Given the description of an element on the screen output the (x, y) to click on. 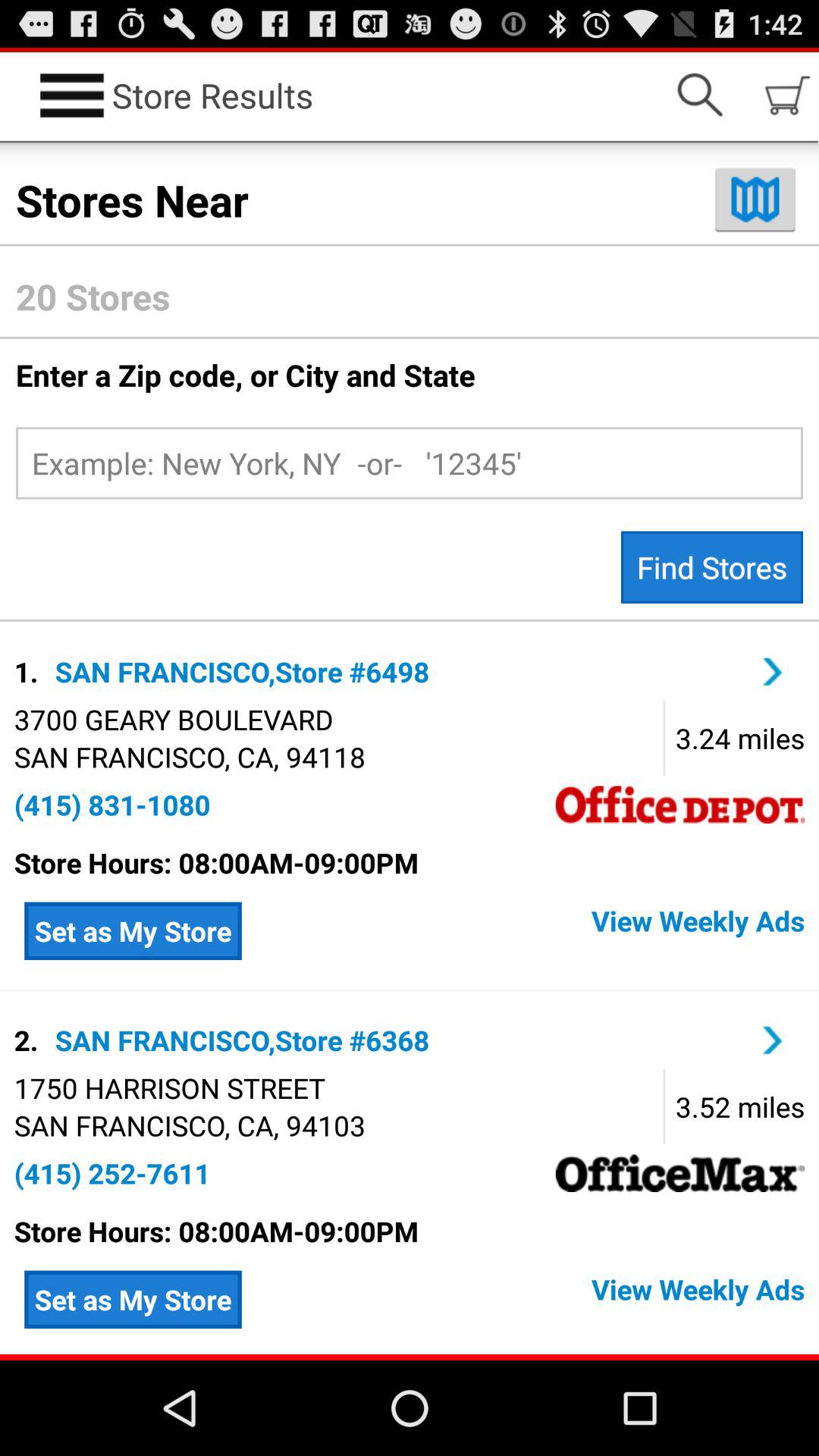
tap the (415) 252-7611 app (112, 1173)
